Given the description of an element on the screen output the (x, y) to click on. 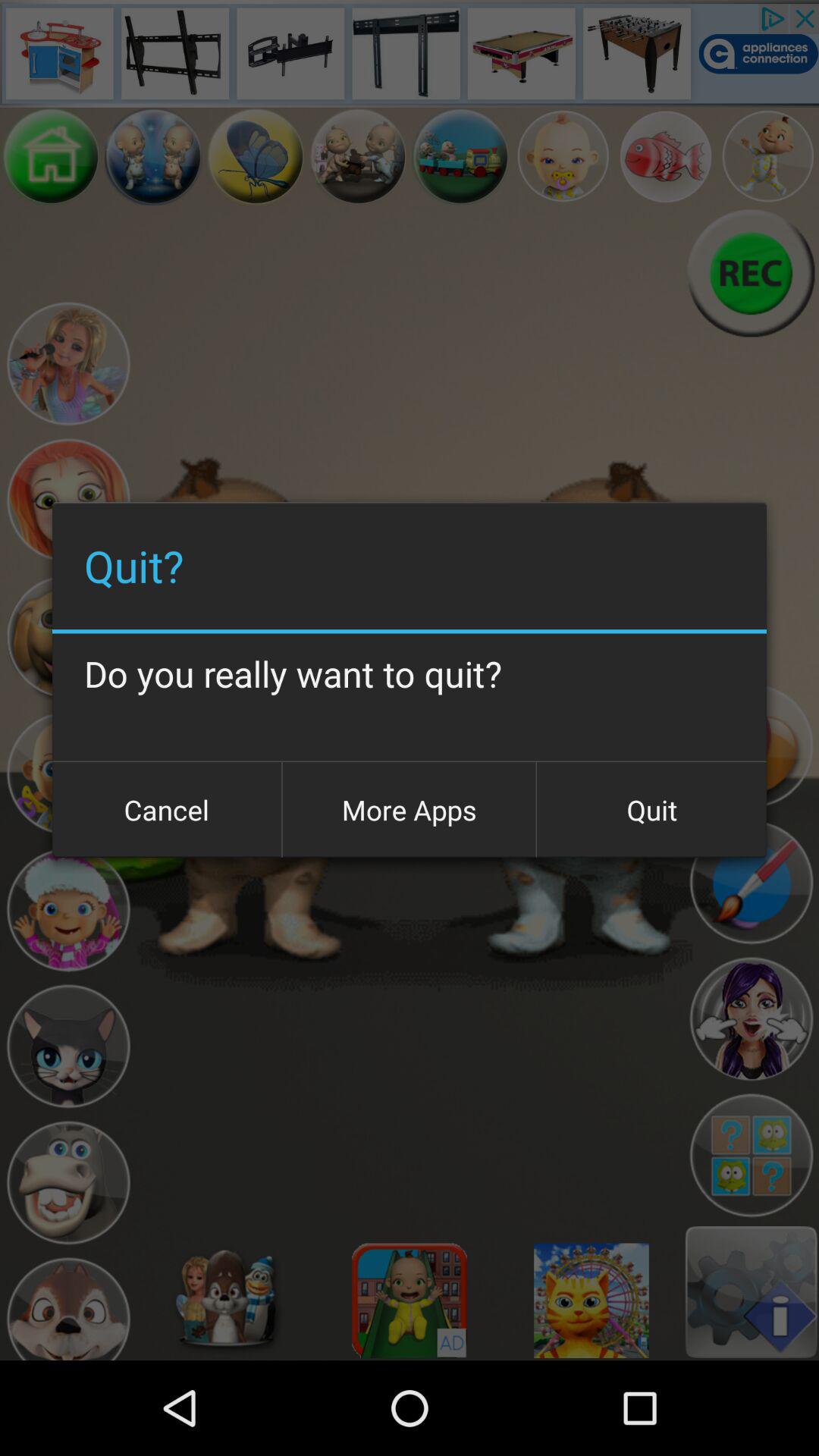
go to back (255, 156)
